Given the description of an element on the screen output the (x, y) to click on. 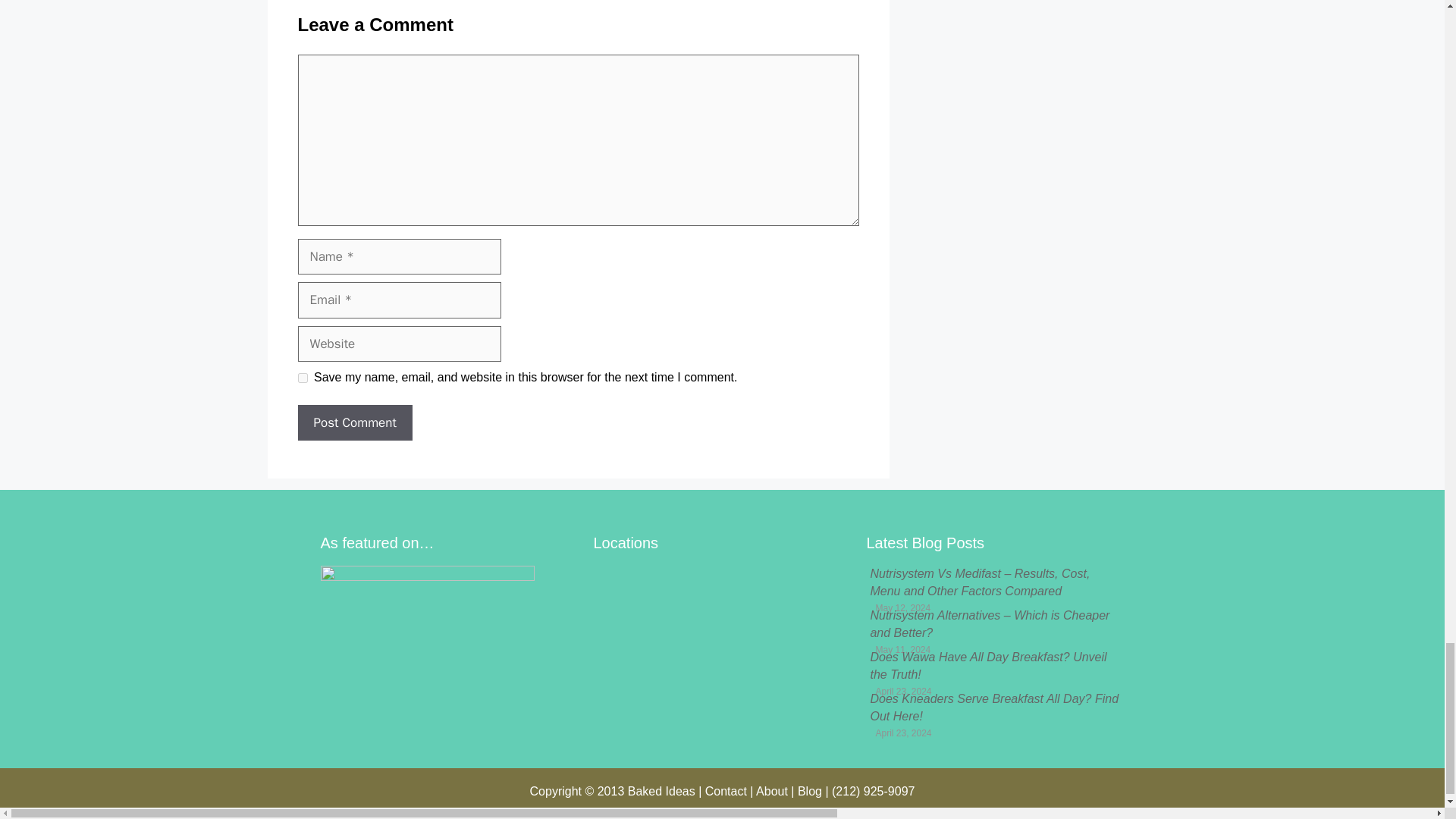
Baked Ideas (661, 790)
yes (302, 378)
Does Wawa Have All Day Breakfast? Unveil the Truth! (987, 665)
London Eye, London, United Kingdom (721, 643)
Post Comment (354, 422)
Does Kneaders Serve Breakfast All Day? Find Out Here! (993, 706)
